Given the description of an element on the screen output the (x, y) to click on. 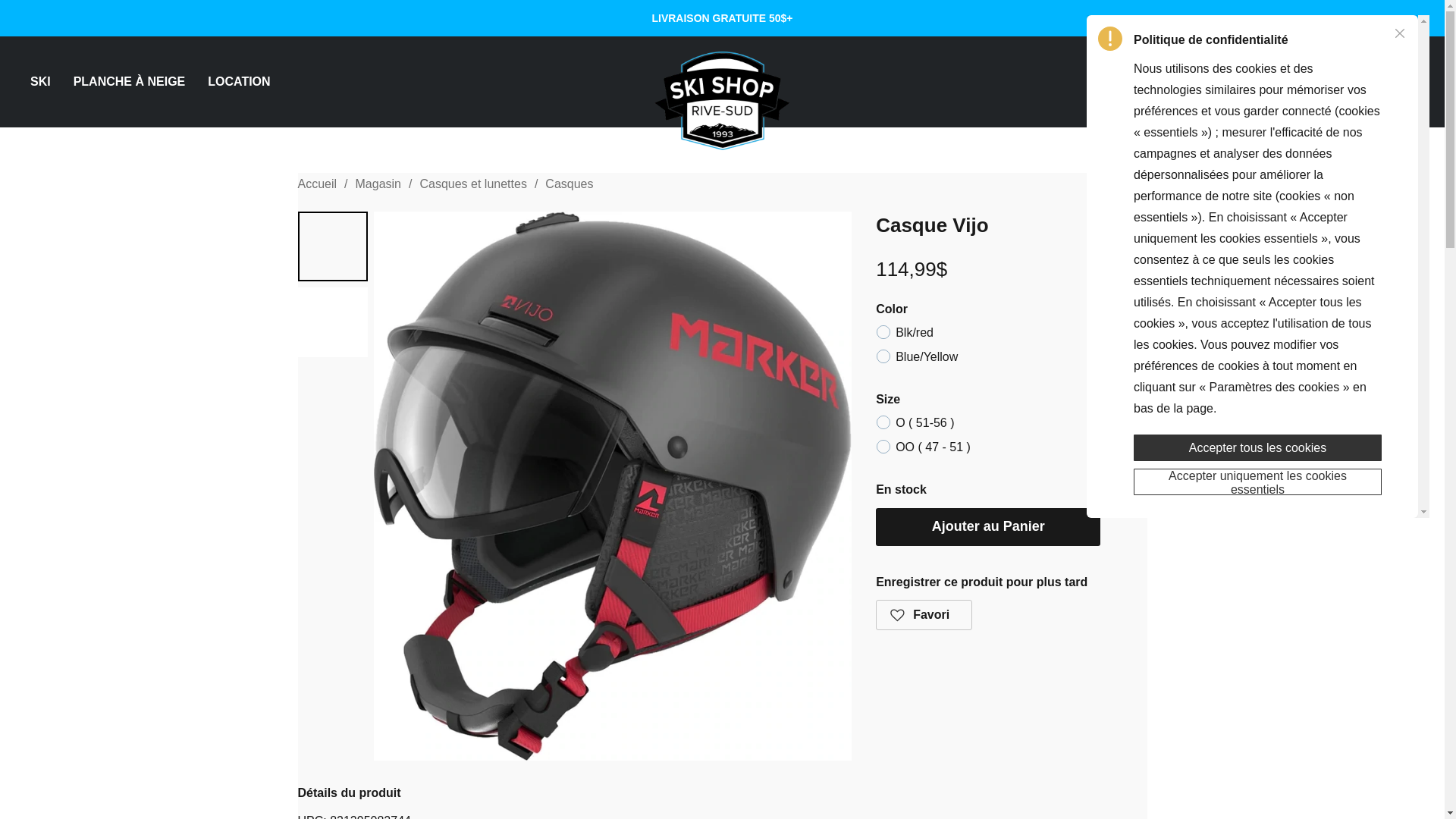
Recherche le site Web (1323, 81)
Casques (568, 183)
Accueil (316, 183)
Favori (924, 614)
Casques et lunettes (472, 183)
Accepter uniquement les cookies essentiels (1257, 481)
Magasin (378, 183)
Aller au panier (1404, 81)
Ajouter au Panier (988, 526)
LOCATION (232, 81)
SKI (46, 81)
Accepter tous les cookies (1257, 447)
